Given the description of an element on the screen output the (x, y) to click on. 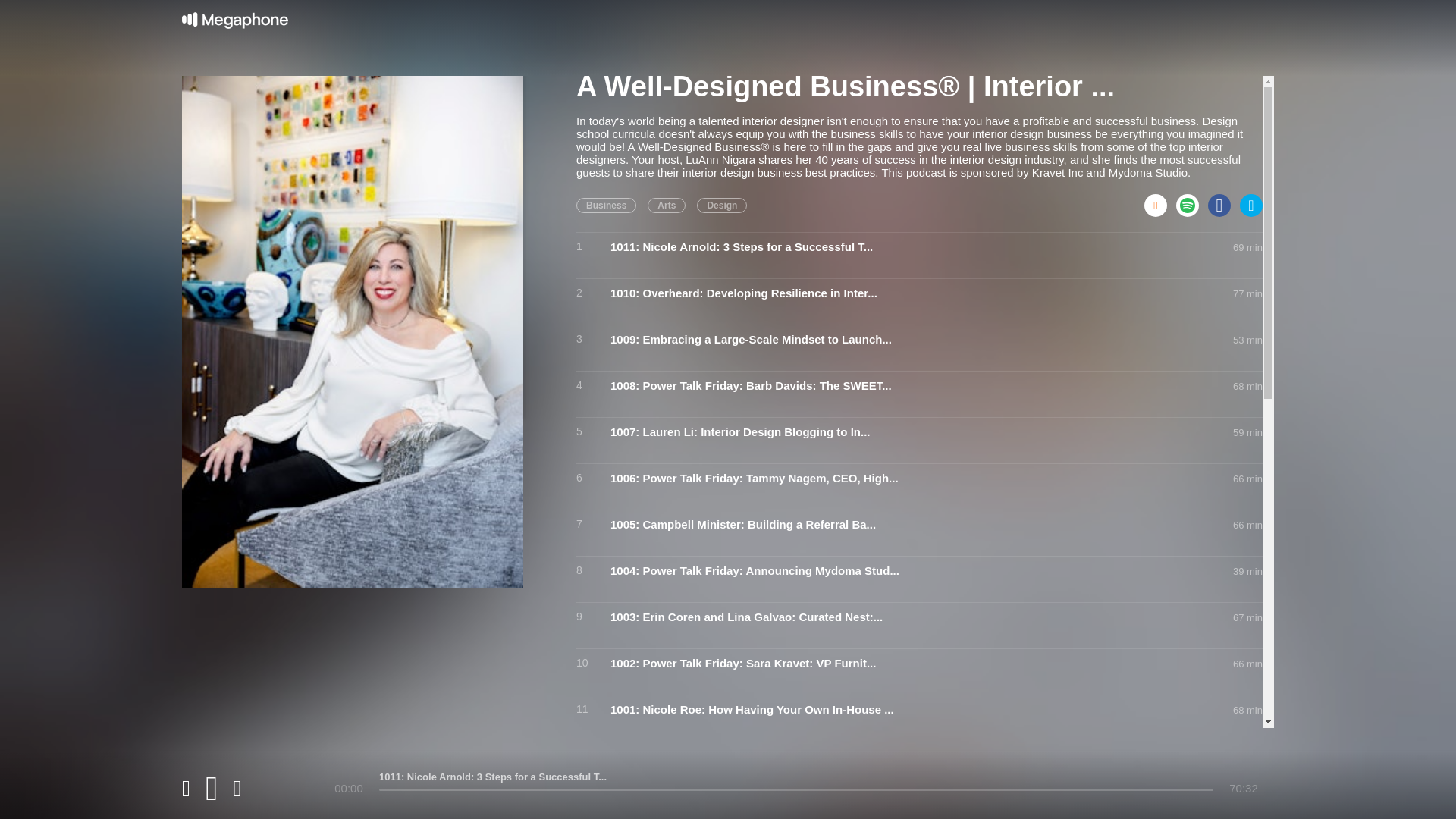
Subscribe via RSS (1160, 200)
Subscribe via Spotify (1192, 200)
Share via Facebook (1224, 200)
Share via Twitter (1251, 200)
